Given the description of an element on the screen output the (x, y) to click on. 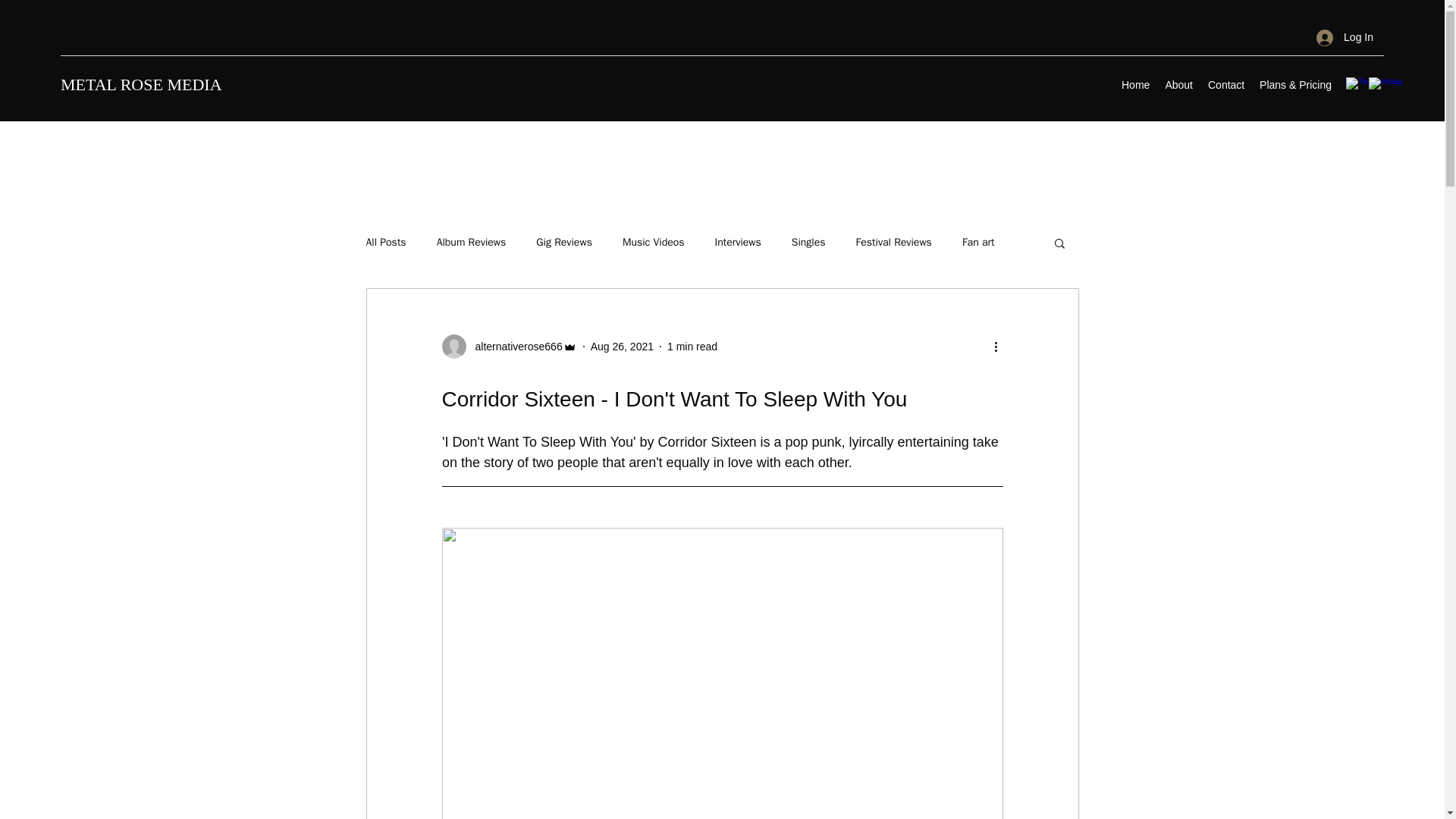
Fan art (978, 242)
Log In (1345, 37)
Festival Reviews (893, 242)
Singles (808, 242)
alternativerose666 (508, 346)
Aug 26, 2021 (622, 345)
Gig Reviews (563, 242)
1 min read (691, 345)
Music Videos (653, 242)
Contact (1225, 84)
